Given the description of an element on the screen output the (x, y) to click on. 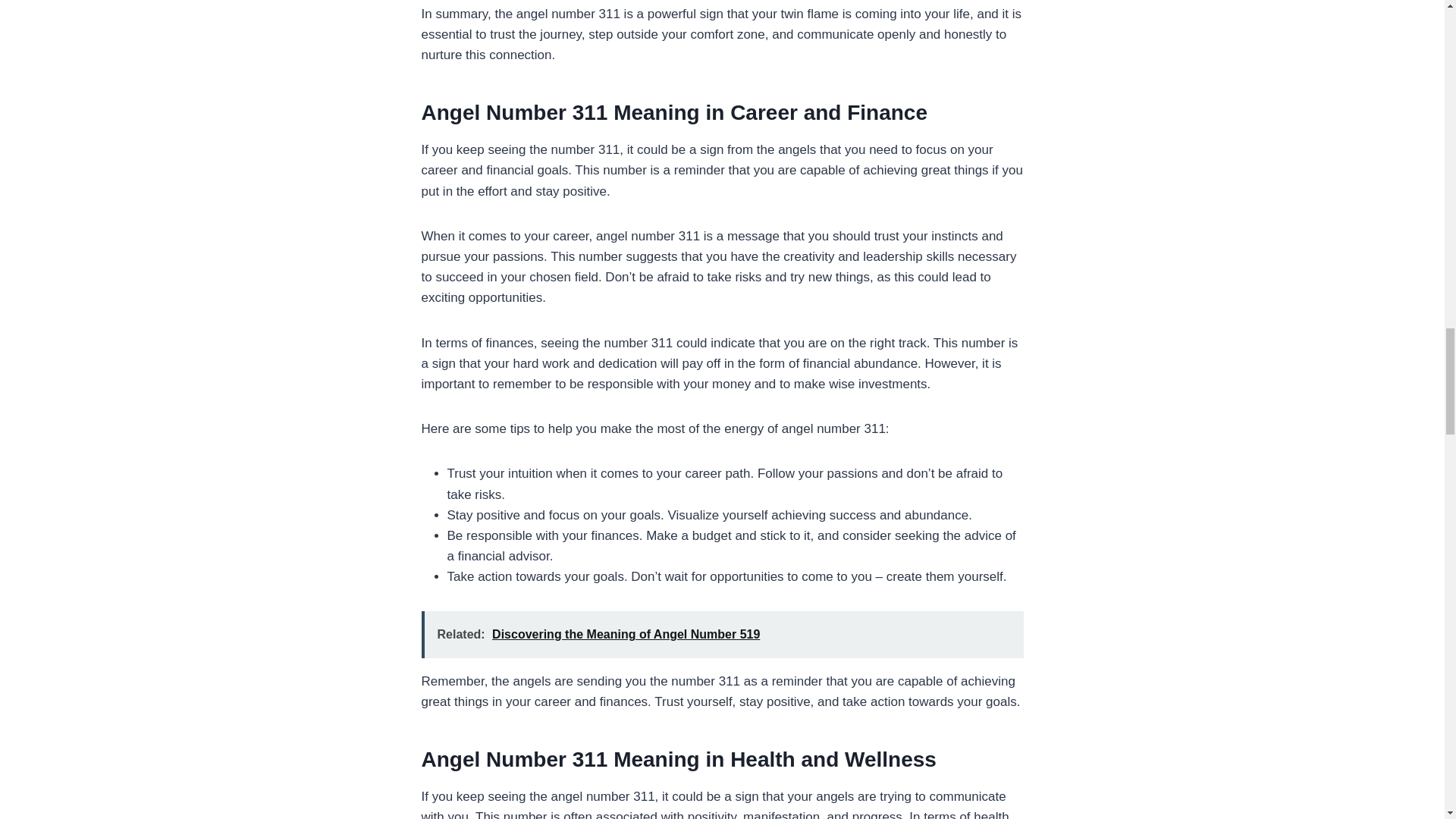
Related:  Discovering the Meaning of Angel Number 519 (722, 633)
